Given the description of an element on the screen output the (x, y) to click on. 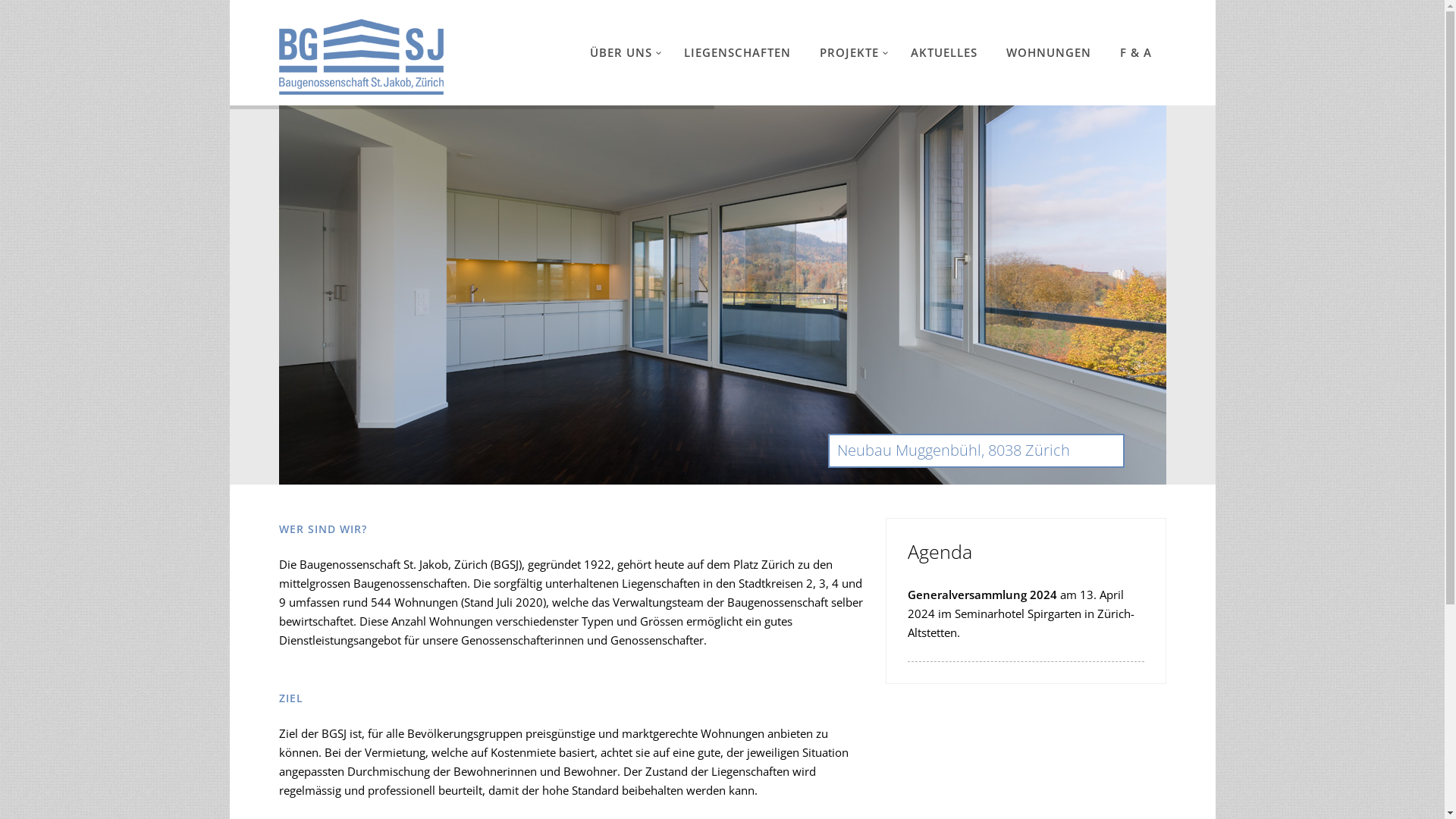
F & A Element type: text (1135, 52)
LIEGENSCHAFTEN Element type: text (736, 52)
WOHNUNGEN Element type: text (1048, 52)
PROJEKTE Element type: text (850, 52)
AKTUELLES Element type: text (943, 52)
